Given the description of an element on the screen output the (x, y) to click on. 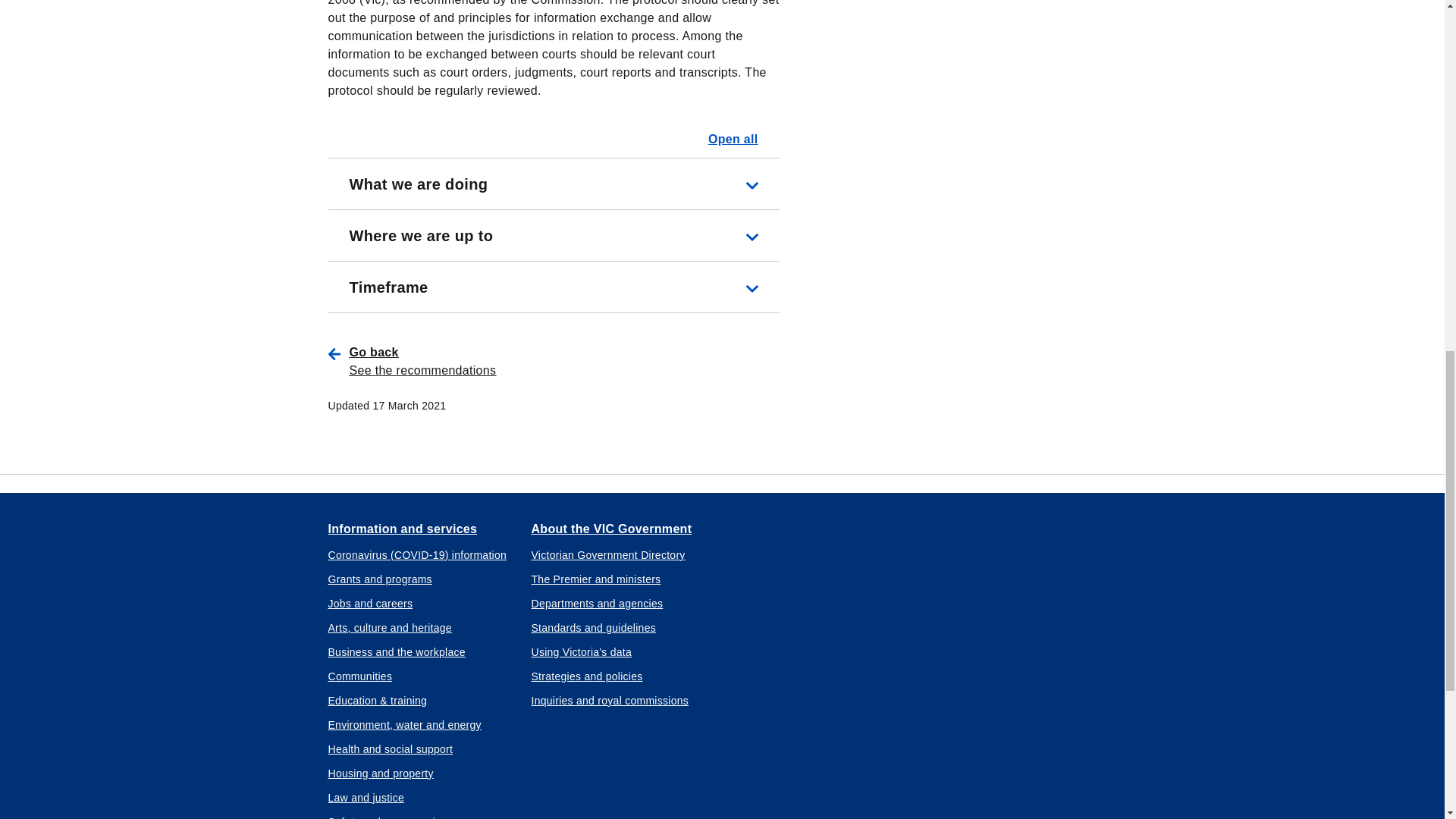
Health and social support (389, 749)
Go back See the recommendations (563, 360)
Housing and property (379, 773)
The Premier and ministers (596, 579)
Victorian Government Directory (607, 554)
Open all (732, 139)
What we are doing (552, 183)
Grants and programs (378, 579)
Communities (359, 676)
Timeframe (552, 286)
Information and services (402, 529)
Safety and emergencies (386, 816)
Departments and agencies (596, 603)
Business and the workplace (395, 652)
Environment, water and energy (403, 724)
